Given the description of an element on the screen output the (x, y) to click on. 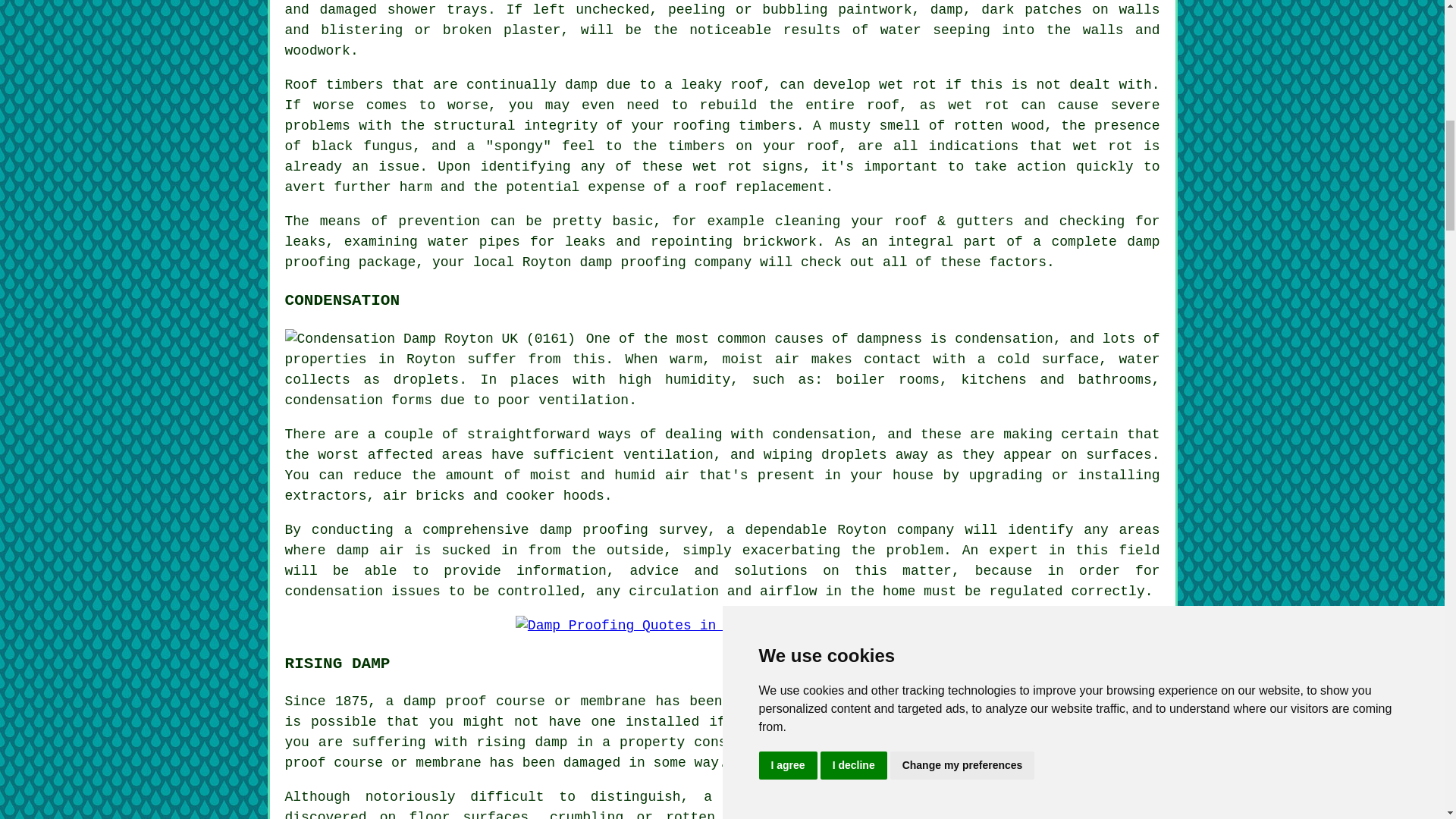
Damp Proofing Quotes in Royton Greater Manchester (721, 625)
wet rot (722, 166)
damp proofing company (665, 262)
wet rot (978, 105)
damp proofing survey (622, 529)
rising damp (522, 742)
condensation (1003, 337)
